Given the description of an element on the screen output the (x, y) to click on. 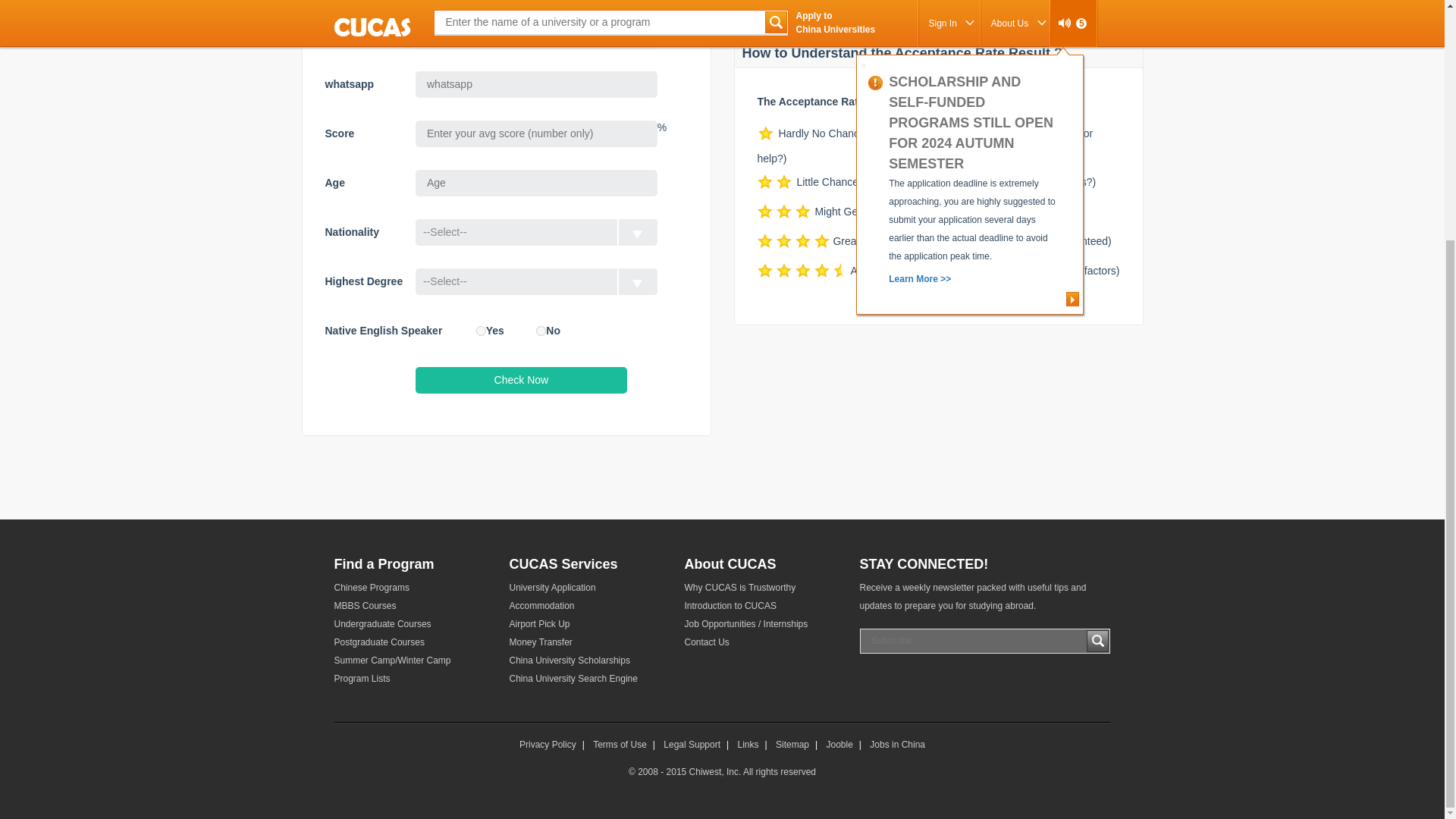
Accommodation (587, 606)
China University Scholarships (587, 660)
1 (481, 330)
University Application (587, 587)
Program Lists (411, 678)
Introduction to CUCAS (762, 606)
Chinese Programs (411, 587)
Airport Pick Up (587, 624)
Postgraduate Courses (411, 642)
China University Search Engine (587, 678)
Undergraduate Courses (411, 624)
Check Now (520, 379)
MBBS Courses (411, 606)
Check Now (520, 379)
0 (540, 330)
